Given the description of an element on the screen output the (x, y) to click on. 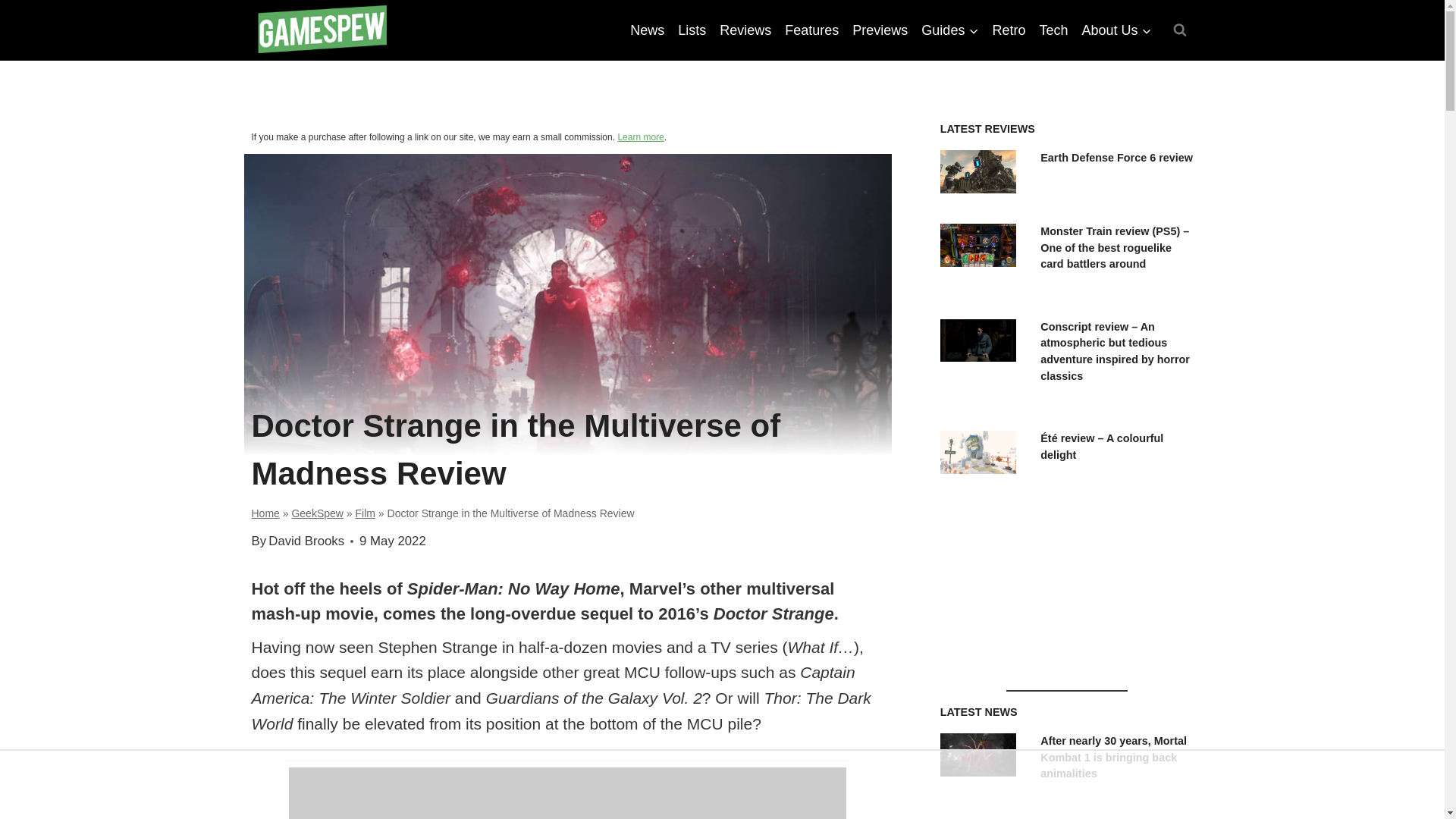
About Us (1115, 30)
Retro (1008, 30)
Lists (692, 30)
GeekSpew (316, 512)
Previews (879, 30)
Reviews (745, 30)
Features (811, 30)
David Brooks (305, 540)
Guides (949, 30)
News (647, 30)
Learn more (640, 136)
Tech (1053, 30)
Home (265, 512)
